Given the description of an element on the screen output the (x, y) to click on. 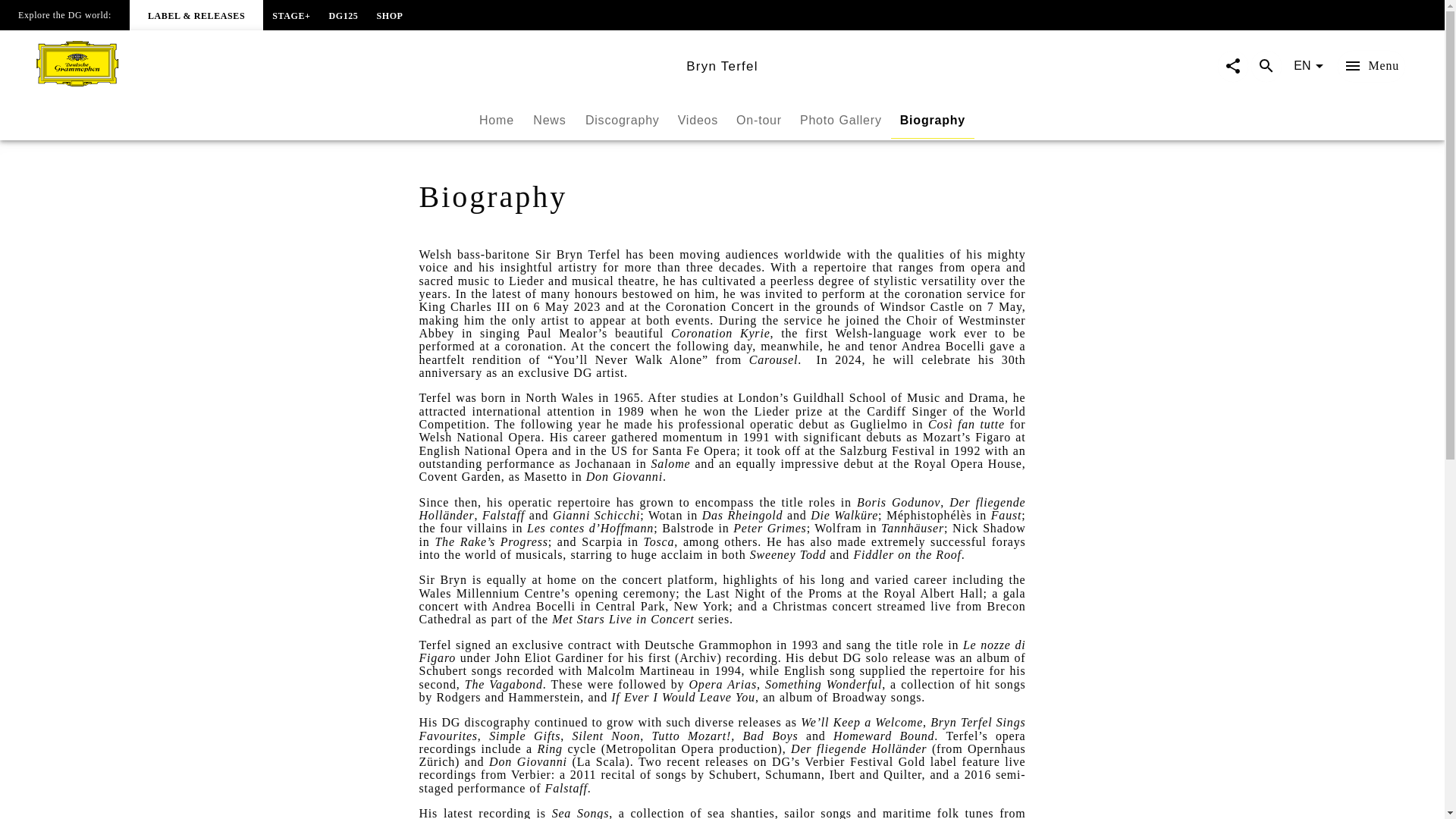
Discography (722, 121)
Photo Gallery (622, 120)
DG125 (840, 120)
Biography (342, 13)
News (932, 120)
On-tour (549, 120)
SHOP (758, 120)
Home (389, 13)
Videos (496, 120)
